Given the description of an element on the screen output the (x, y) to click on. 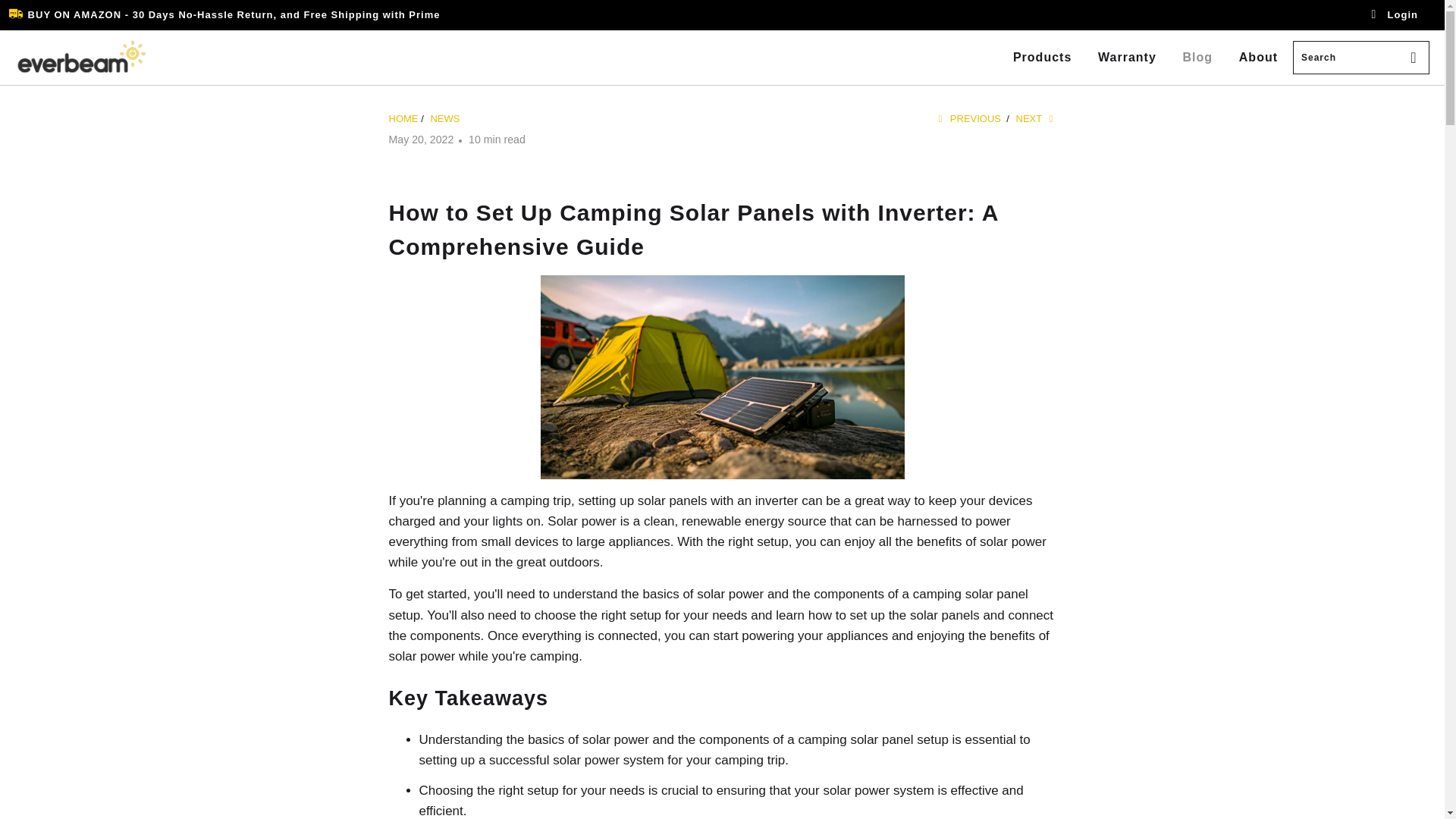
Everbeam (402, 118)
Login (1394, 15)
Everbeam (81, 56)
News (444, 118)
My Account  (1394, 15)
